Given the description of an element on the screen output the (x, y) to click on. 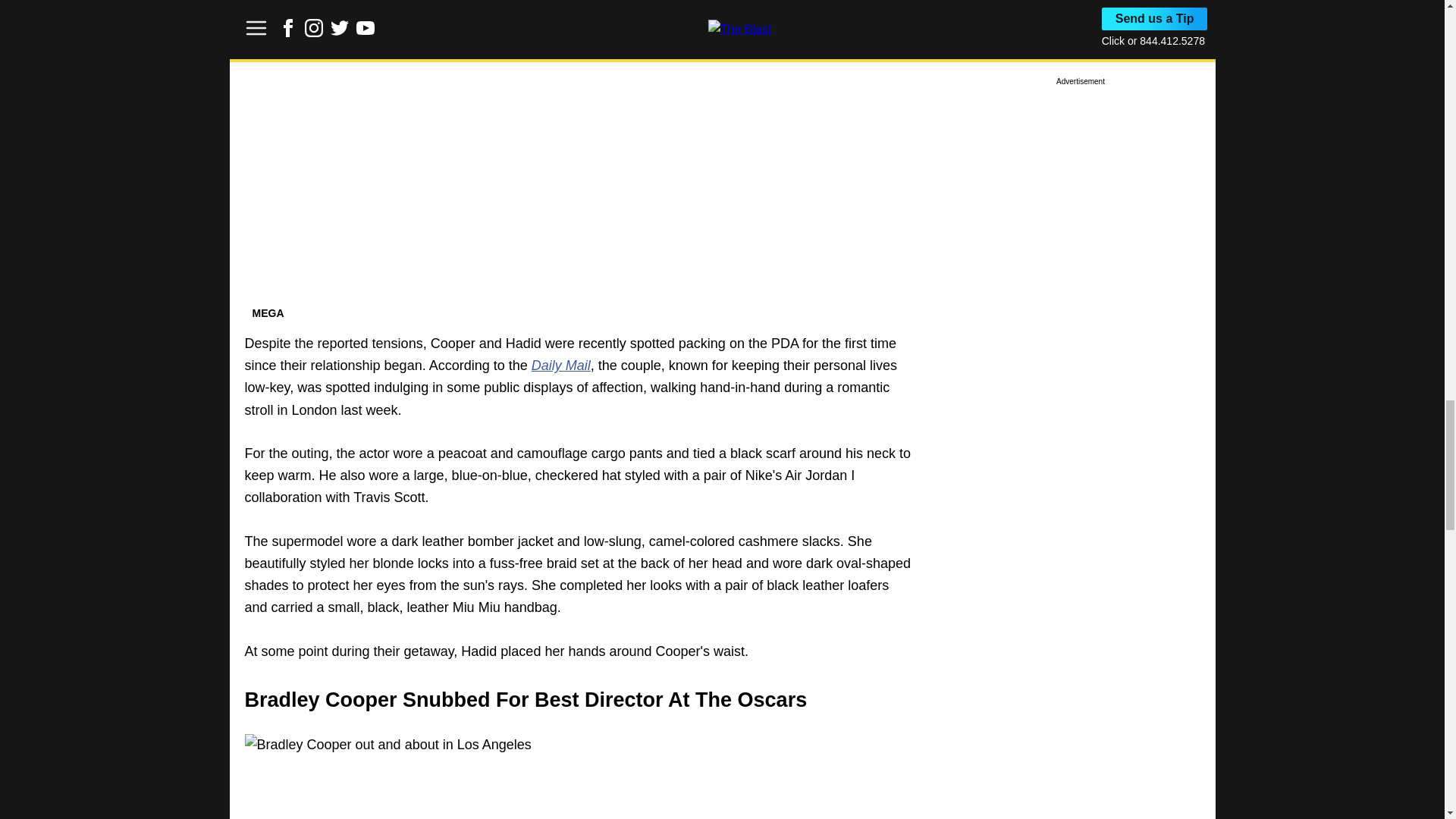
Daily Mail (561, 365)
